Given the description of an element on the screen output the (x, y) to click on. 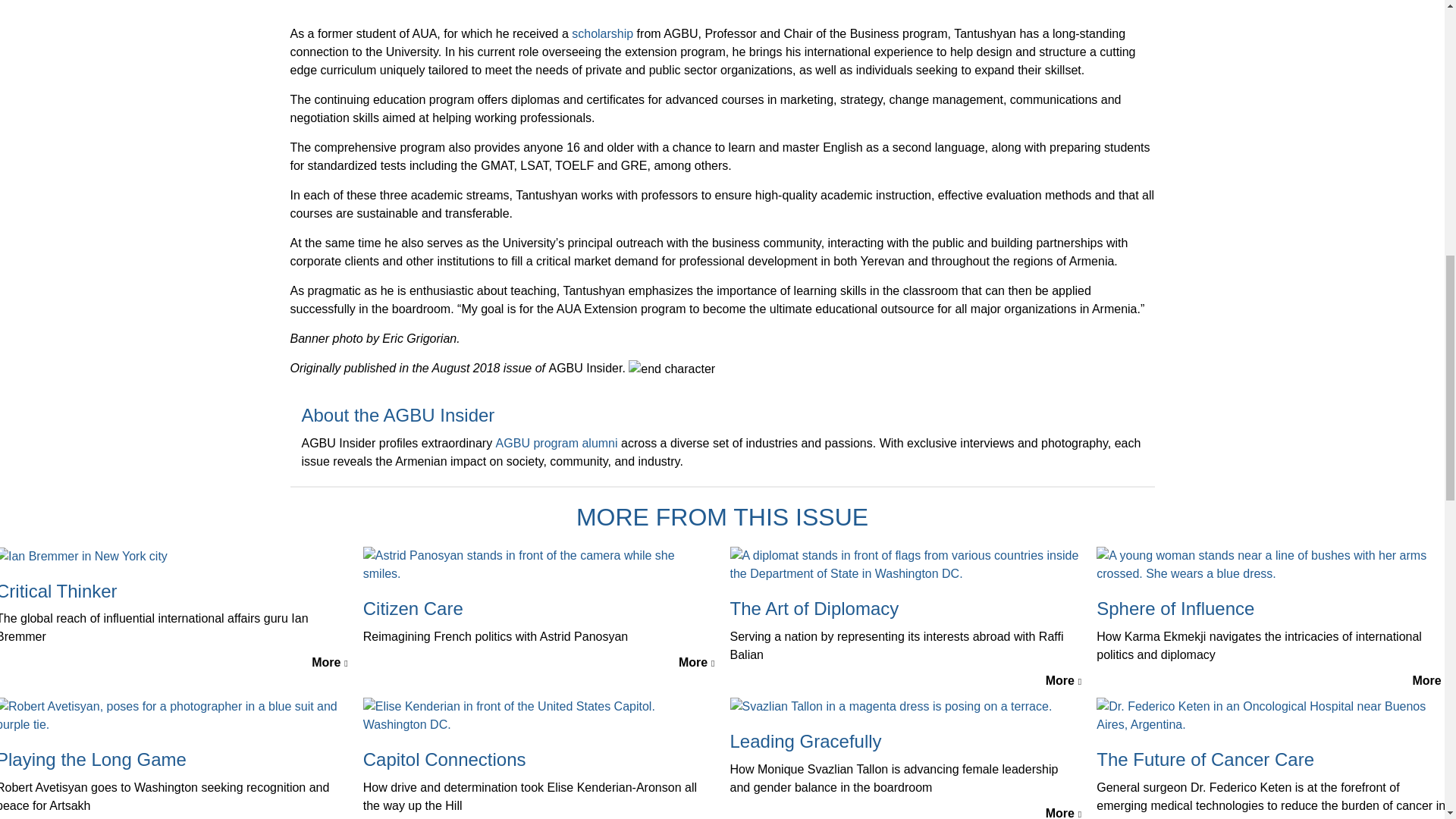
Sphere of Influence (1272, 608)
Playing the Long Game (173, 714)
Citizen Care (538, 563)
The Art of Diplomacy (905, 563)
Critical Thinker (173, 591)
Sphere of Influence (1272, 563)
Leading Gracefully  (890, 706)
Playing the Long Game (173, 760)
Critical Thinker (83, 554)
Citizen Care (538, 608)
